Given the description of an element on the screen output the (x, y) to click on. 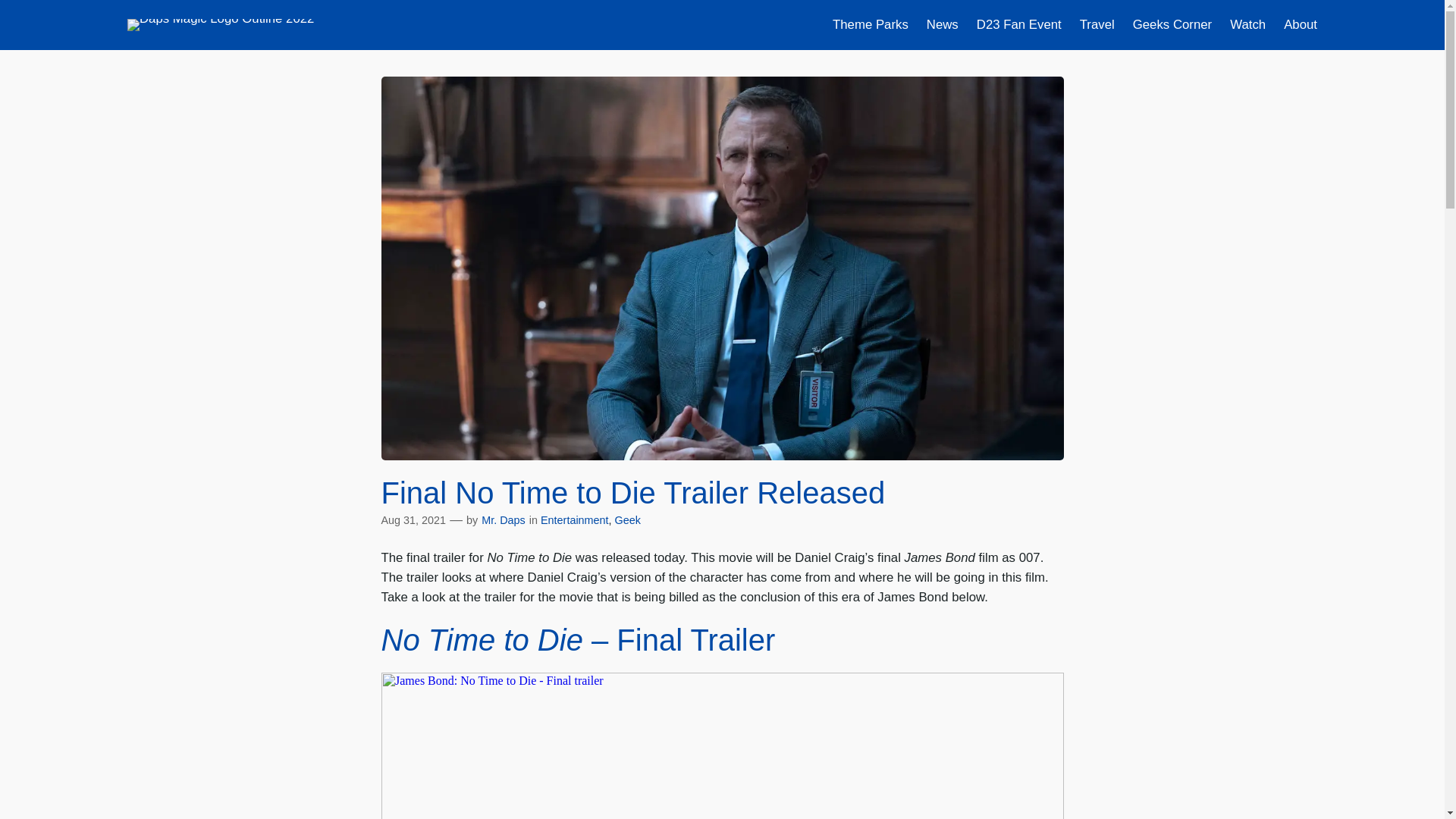
Theme Parks (870, 25)
Geek (627, 520)
D23 Fan Event (1018, 25)
Entertainment (574, 520)
About (1300, 25)
Geeks Corner (1171, 25)
James Bond: No Time to Die - Final trailer (721, 745)
News (942, 25)
Mr. Daps (503, 520)
Watch (1247, 25)
